Given the description of an element on the screen output the (x, y) to click on. 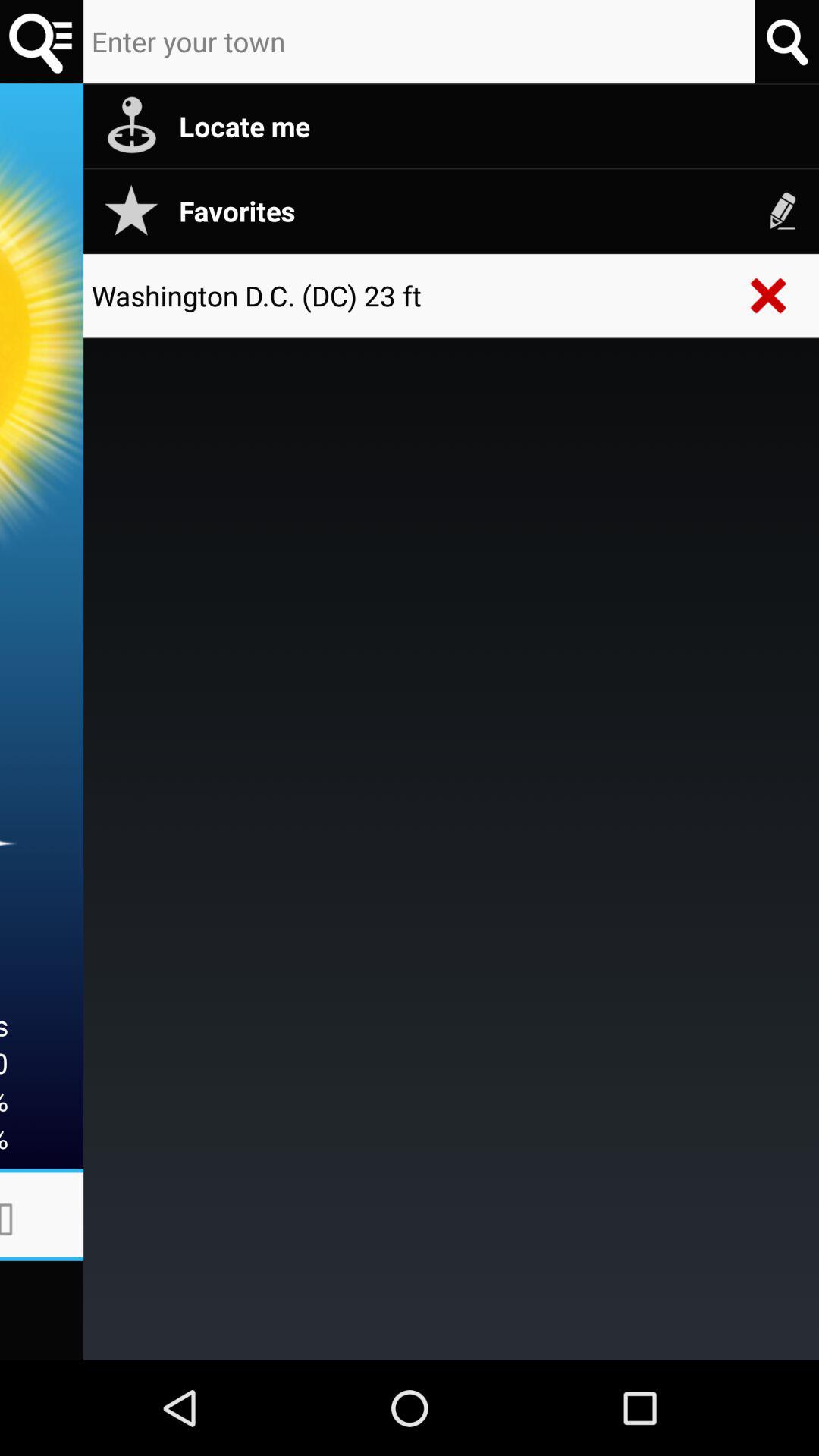
enter your town (419, 41)
